Given the description of an element on the screen output the (x, y) to click on. 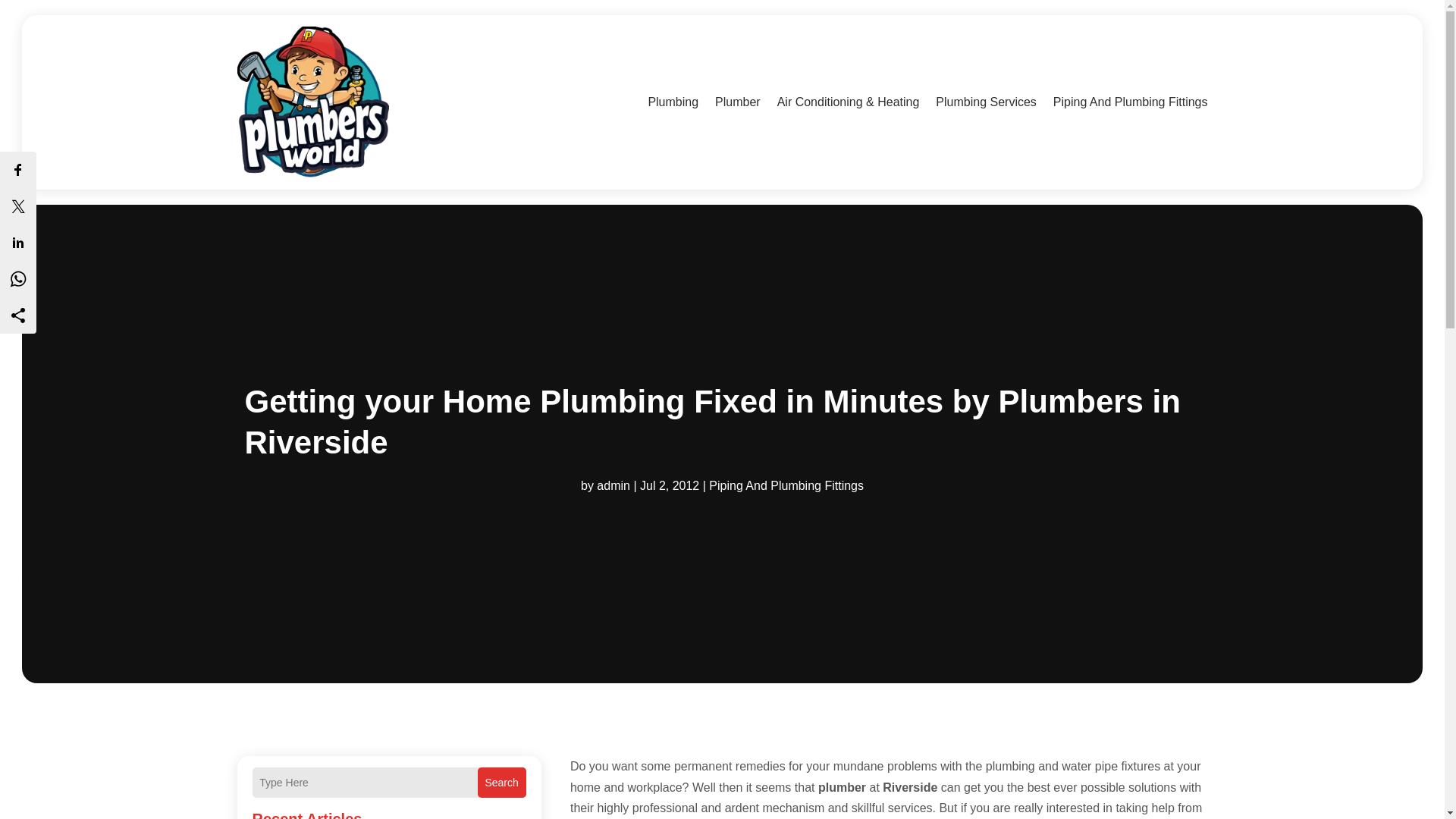
admin (613, 485)
Piping And Plumbing Fittings (786, 485)
Posts by admin (613, 485)
Search (501, 782)
Piping And Plumbing Fittings (1130, 102)
